Given the description of an element on the screen output the (x, y) to click on. 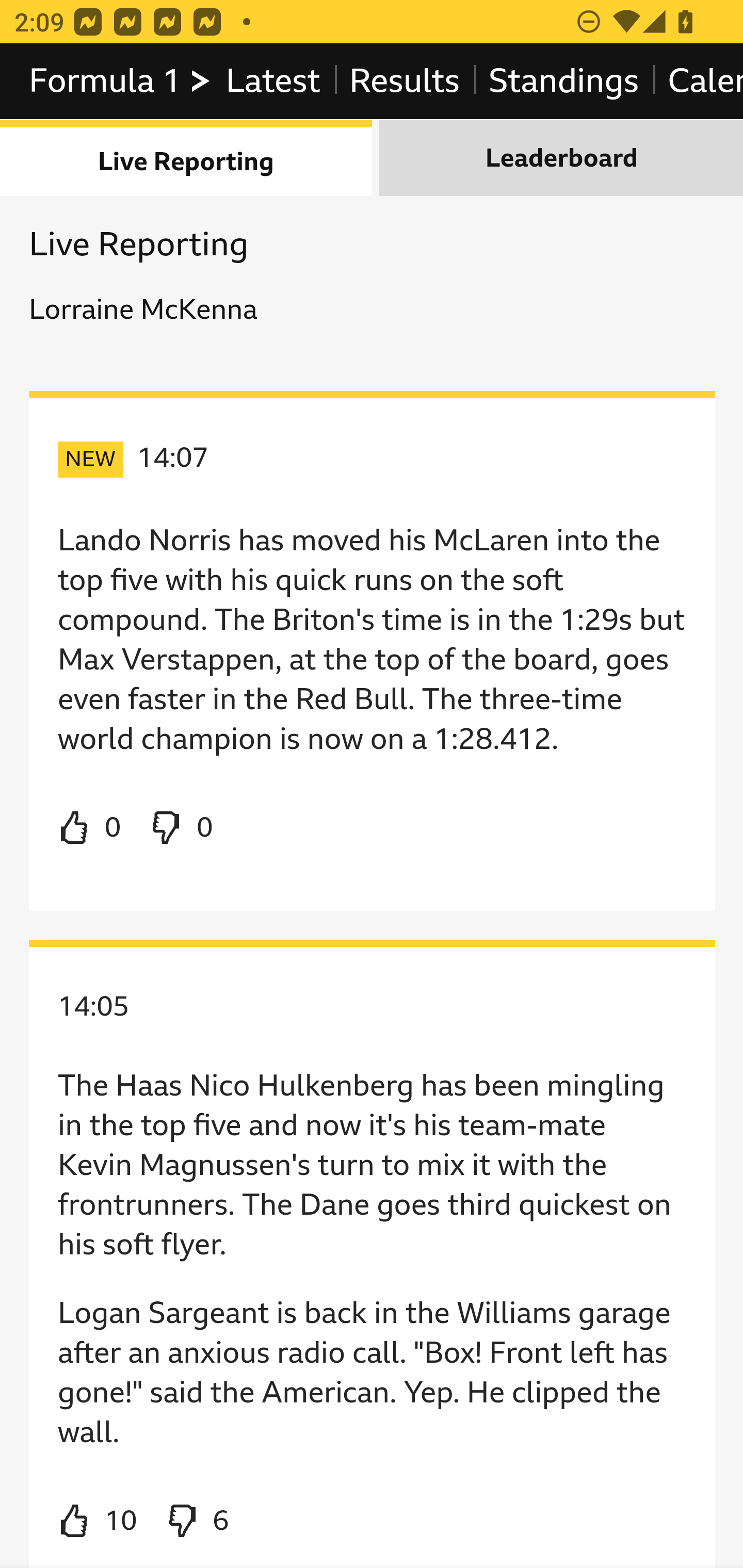
Live Reporting (186, 159)
Leaderboard (560, 159)
Like (89, 828)
Dislike (180, 828)
Like (97, 1521)
Dislike (196, 1521)
